Given the description of an element on the screen output the (x, y) to click on. 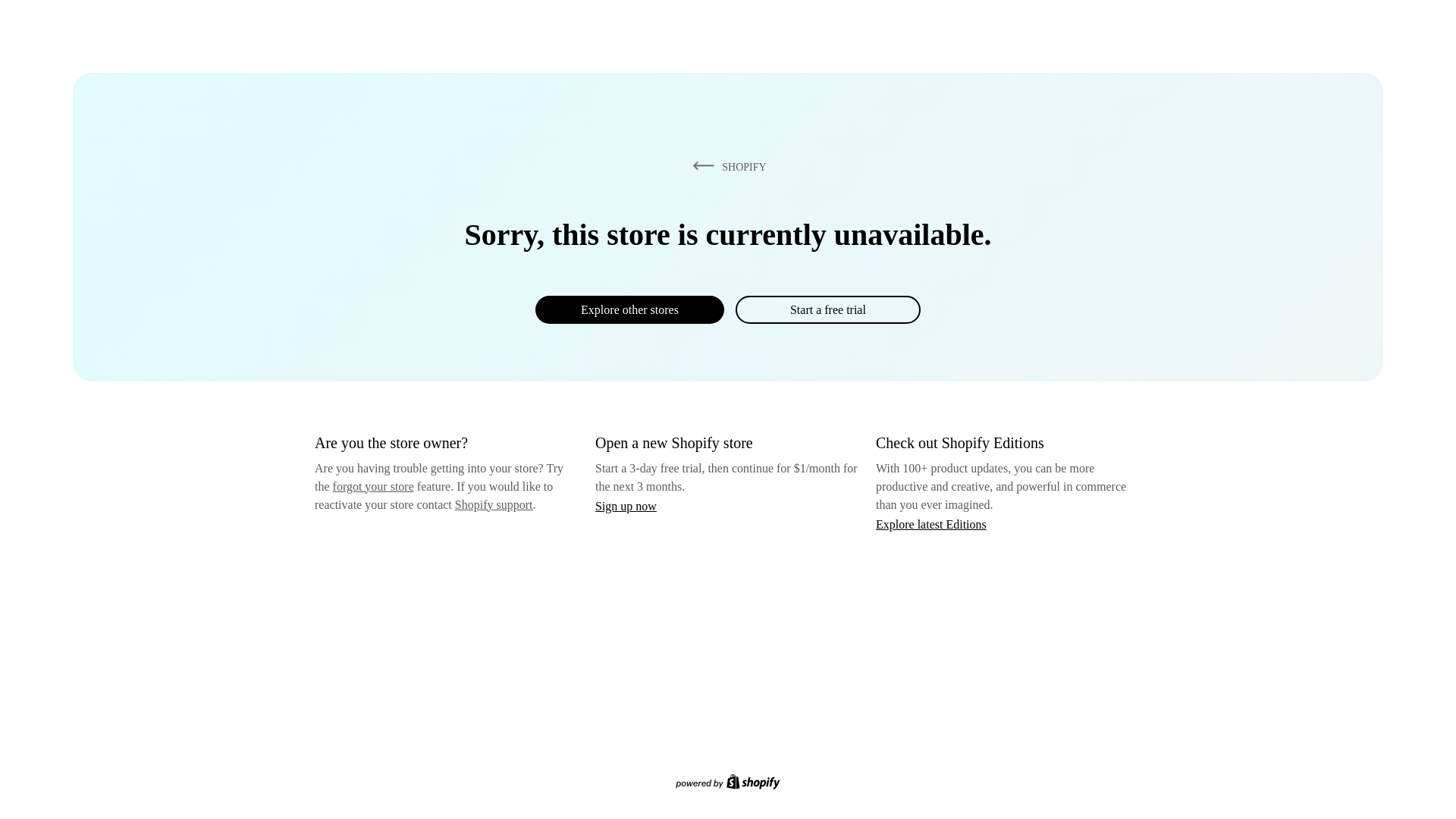
Start a free trial (827, 309)
Shopify support (493, 504)
Explore other stores (629, 309)
Explore latest Editions (931, 523)
SHOPIFY (726, 166)
Sign up now (625, 505)
forgot your store (373, 486)
